Given the description of an element on the screen output the (x, y) to click on. 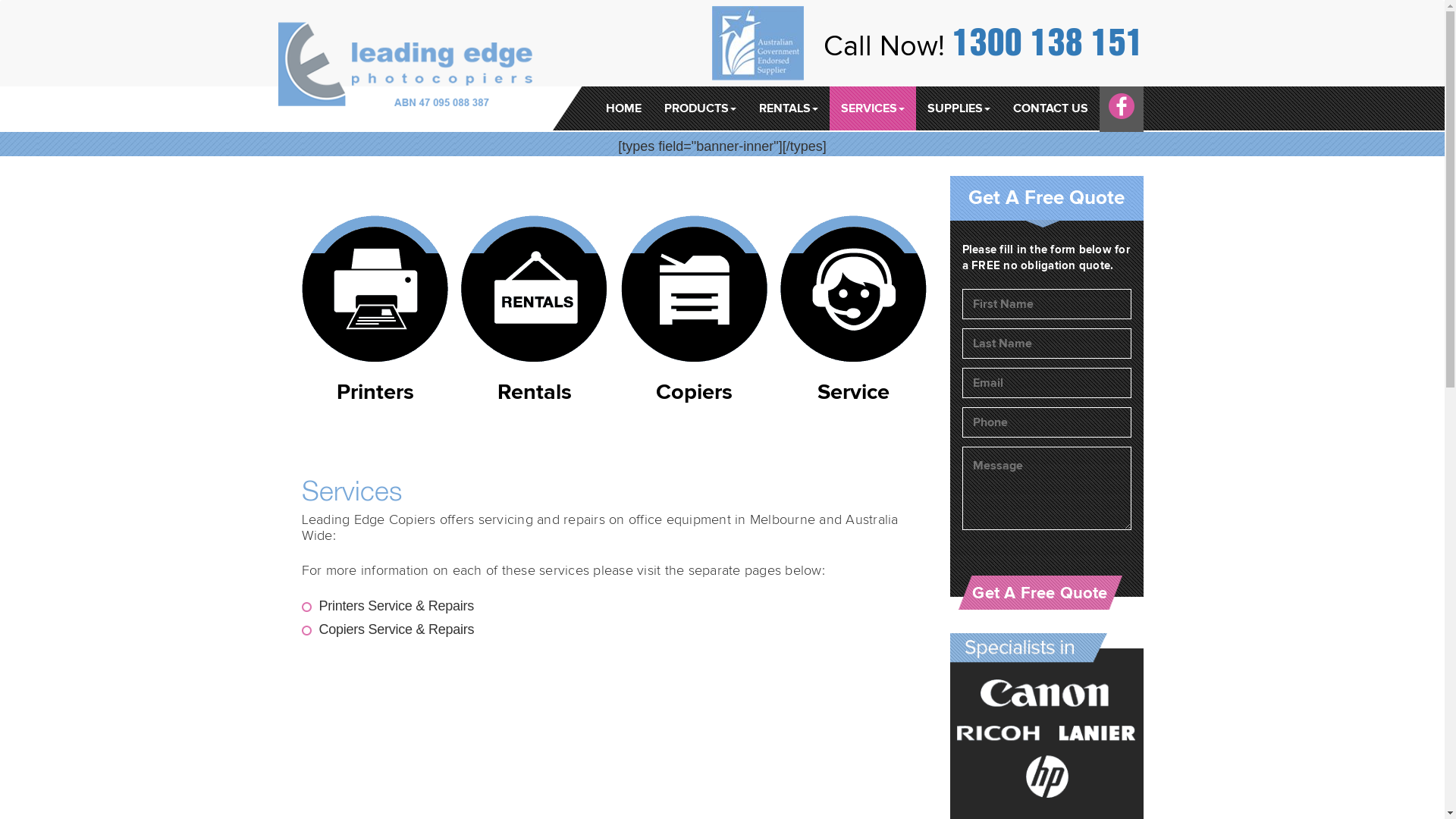
Copiers Service & Repairs Element type: text (395, 629)
Service Element type: text (852, 319)
1300 138 151 Element type: text (1047, 41)
Printers Element type: text (374, 319)
HOME Element type: text (623, 108)
RENTALS Element type: text (788, 108)
Rentals Element type: text (534, 319)
Printers Service & Repairs Element type: text (395, 605)
SERVICES Element type: text (872, 108)
CONTACT US Element type: text (1049, 108)
SUPPLIES Element type: text (958, 108)
FACEBOOK Element type: text (1121, 105)
PRODUCTS Element type: text (699, 108)
Copiers Element type: text (693, 319)
Get A Free Quote Element type: text (1040, 592)
